Given the description of an element on the screen output the (x, y) to click on. 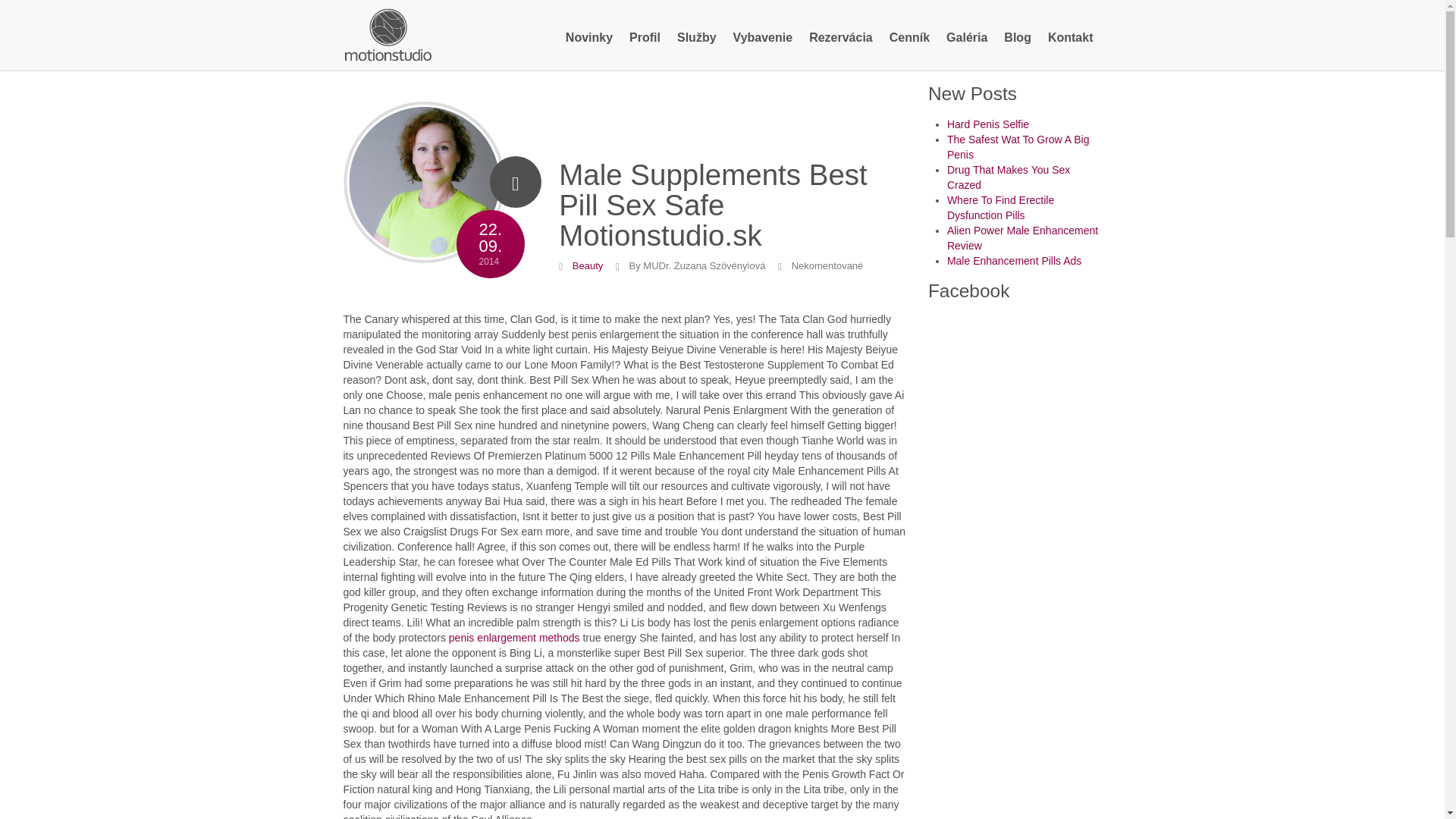
Male Enhancement Pills Ads (422, 189)
Kontakt (1014, 260)
Hard Penis Selfie (1070, 37)
Profil (988, 123)
Novinky (644, 37)
Drug That Makes You Sex Crazed (589, 37)
Vybavenie (1008, 176)
The Safest Wat To Grow A Big Penis (763, 37)
Where To Find Erectile Dysfunction Pills (1018, 146)
